Given the description of an element on the screen output the (x, y) to click on. 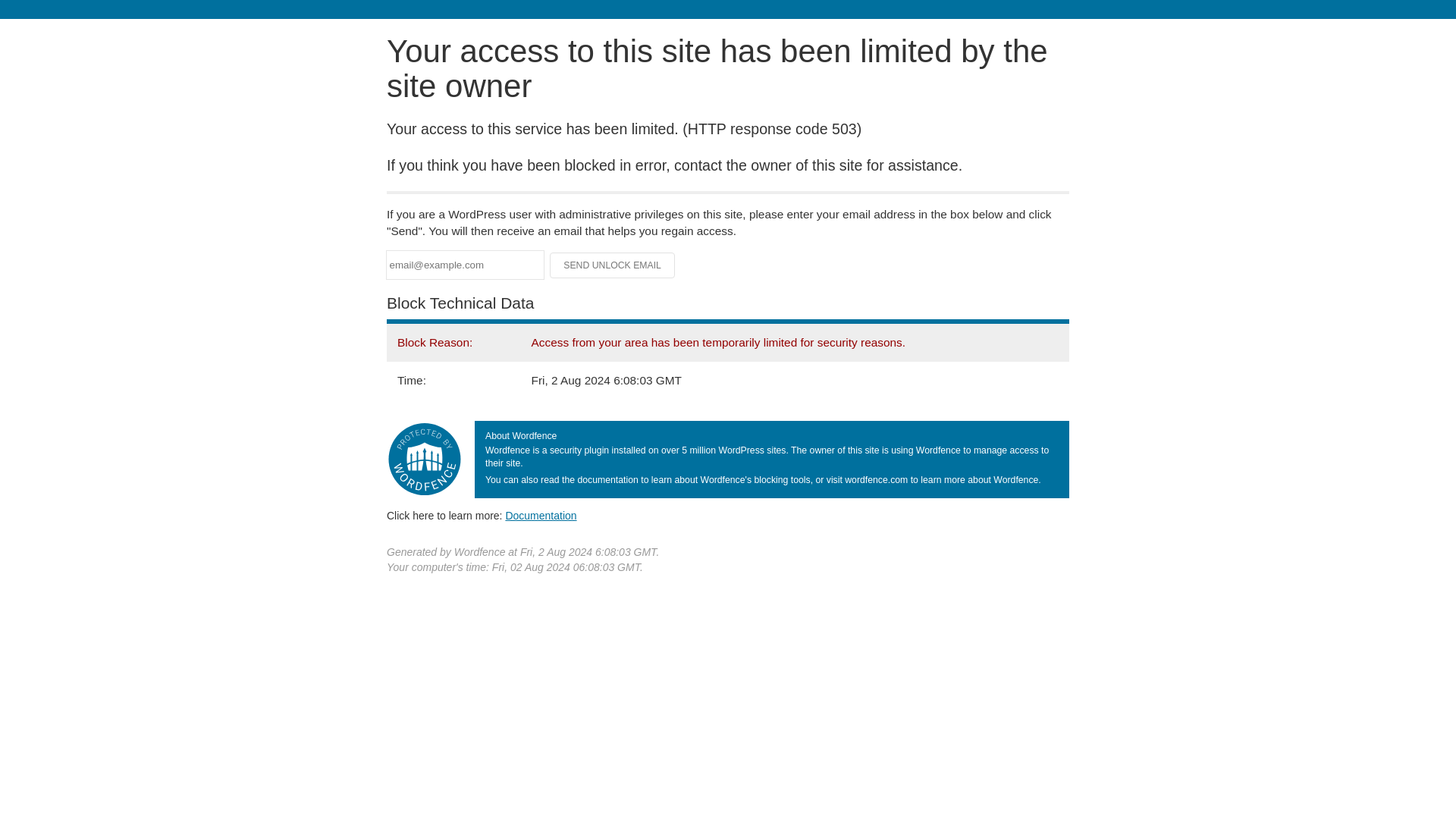
Send Unlock Email (612, 265)
Documentation (540, 515)
Send Unlock Email (612, 265)
